Given the description of an element on the screen output the (x, y) to click on. 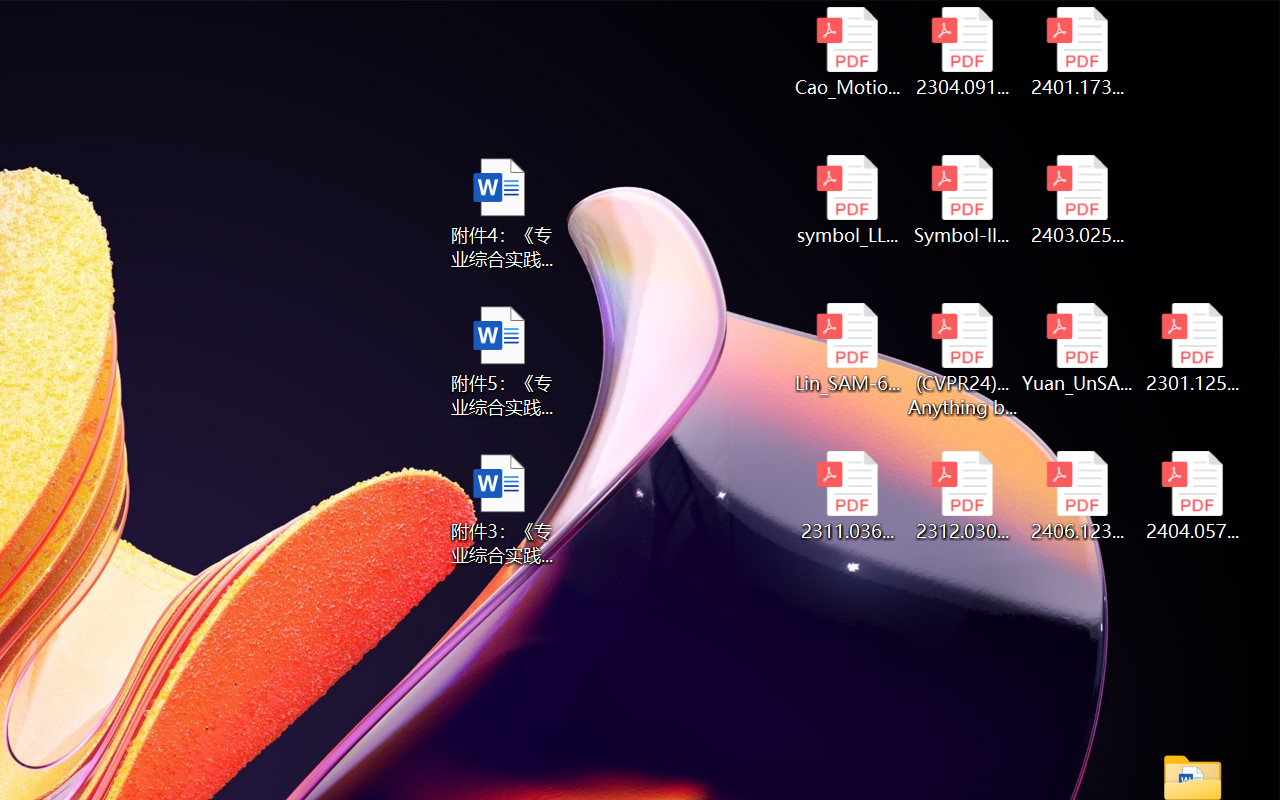
Symbol-llm-v2.pdf (962, 200)
2401.17399v1.pdf (1077, 52)
symbol_LLM.pdf (846, 200)
2404.05719v1.pdf (1192, 496)
2304.09121v3.pdf (962, 52)
2311.03658v2.pdf (846, 496)
2406.12373v2.pdf (1077, 496)
2403.02502v1.pdf (1077, 200)
(CVPR24)Matching Anything by Segmenting Anything.pdf (962, 360)
